Given the description of an element on the screen output the (x, y) to click on. 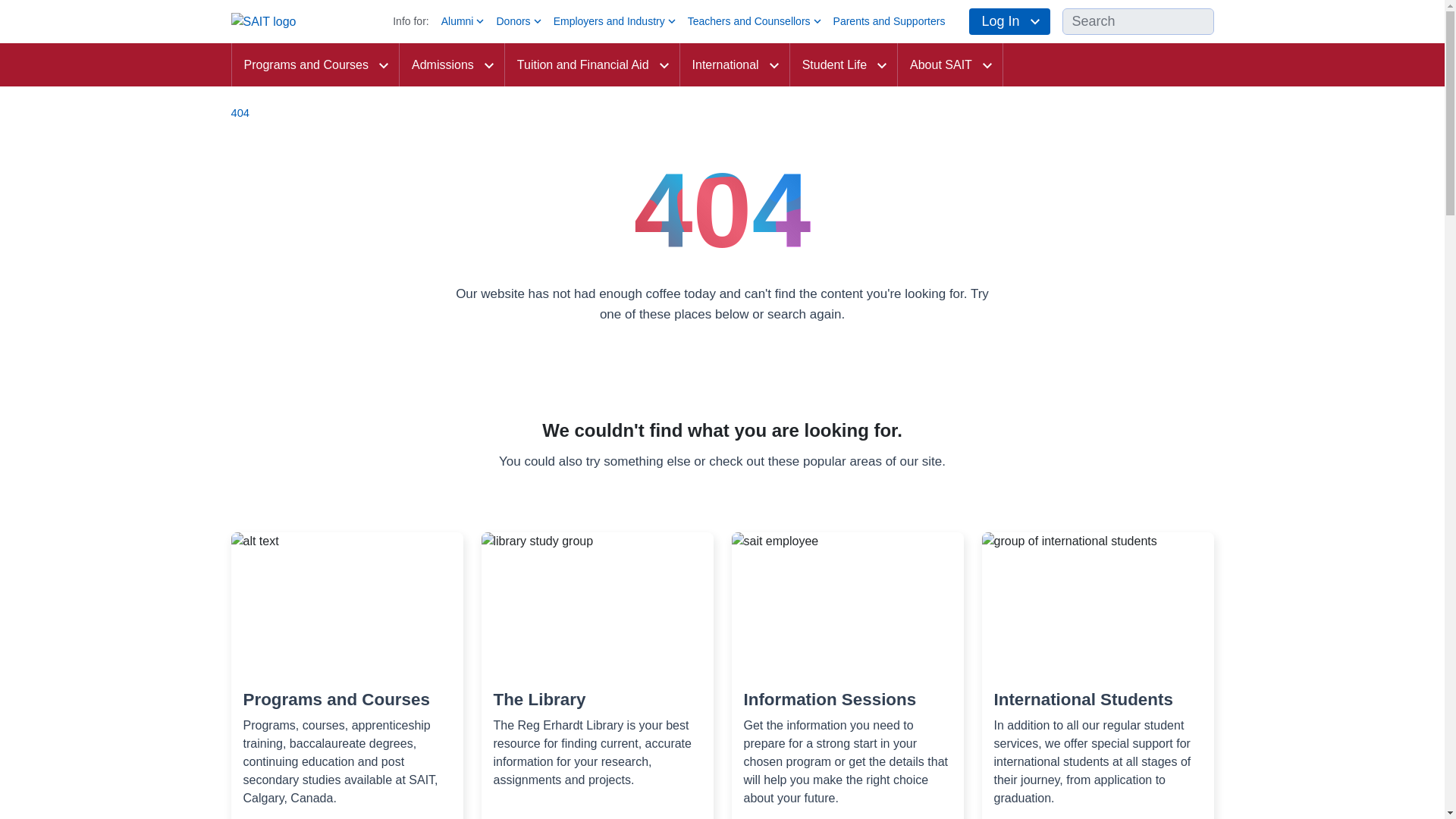
Alumni (464, 21)
Employers and Industry (615, 21)
Parents and Supporters (888, 21)
Log In (1009, 21)
Teachers and Counsellors (755, 21)
Programs and Courses (314, 64)
Donors (519, 21)
